Given the description of an element on the screen output the (x, y) to click on. 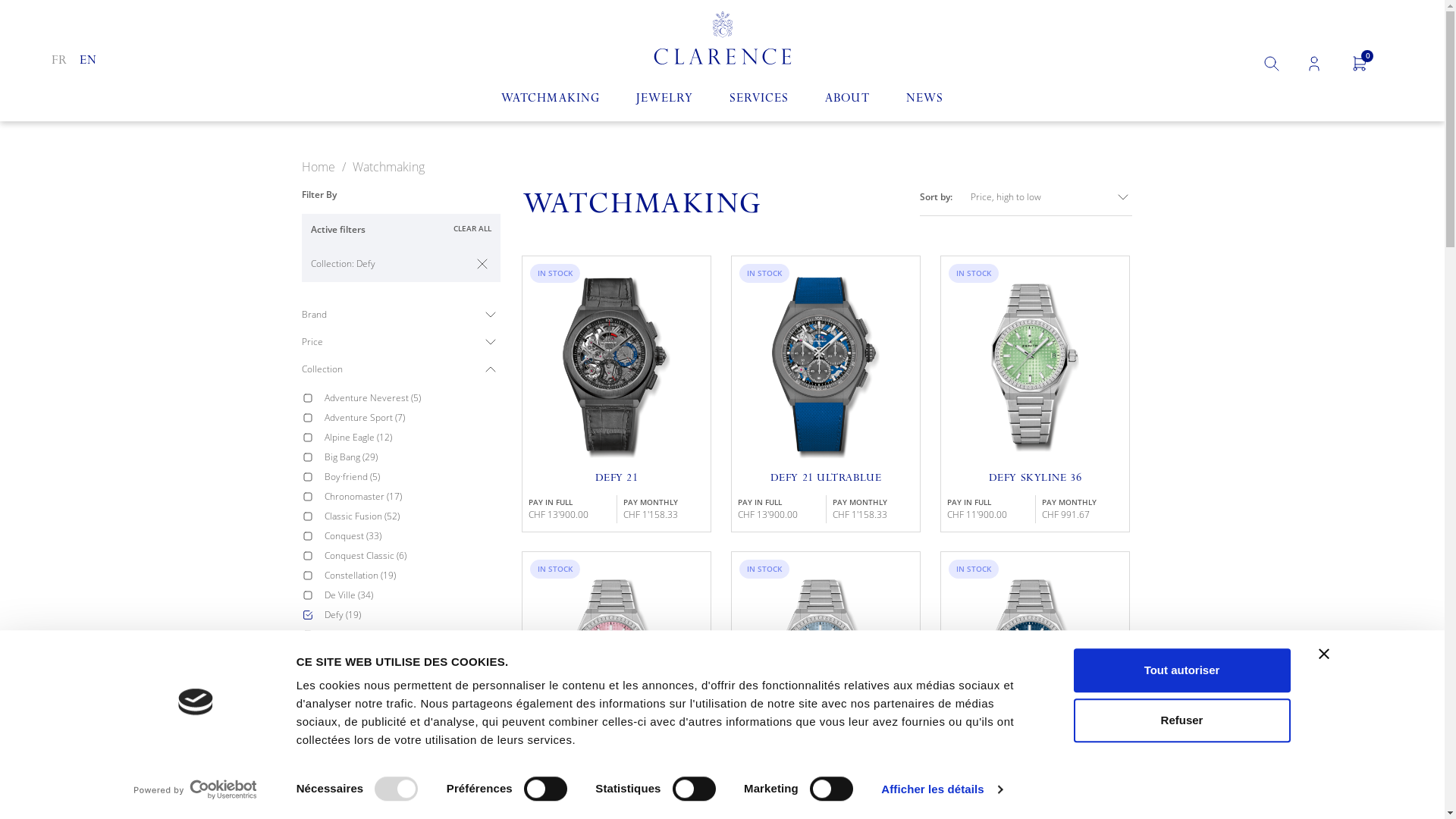
DEFY 21 Element type: text (616, 479)
FR Element type: text (59, 61)
Defy (19) Element type: text (412, 614)
Heritage Avigation (3) Element type: text (412, 772)
DEFY 21 ULTRABLUE Element type: text (825, 479)
IN STOCK Element type: text (1035, 367)
DEFY SKYLINE 36 Element type: text (616, 774)
Heritage (18) Element type: text (412, 752)
Price, high to low Element type: text (1051, 197)
Adventure Sport (7) Element type: text (412, 417)
EN Element type: text (88, 61)
QUICK VIEW Element type: text (615, 802)
DEFY SKYLINE 36 Element type: text (825, 774)
Evidenza (2) Element type: text (412, 673)
Constellation (19) Element type: text (412, 575)
Adventure Neverest (5) Element type: text (412, 397)
DEFY SKYLINE 36 Element type: text (1034, 774)
ABOUT Element type: text (847, 99)
QUICK VIEW Element type: text (825, 506)
JEWELRY Element type: text (664, 99)
Home Element type: text (319, 166)
IN STOCK Element type: text (825, 663)
QUICK VIEW Element type: text (615, 506)
DEFY SKYLINE 36 Element type: text (1034, 479)
QUICK VIEW Element type: text (1034, 802)
Freedom 60 (4) Element type: text (412, 713)
Conquest Classic (6) Element type: text (412, 555)
Refuser Element type: text (1181, 720)
IN STOCK Element type: text (616, 367)
QUICK VIEW Element type: text (1034, 506)
Heritage Classic (9) Element type: text (412, 792)
IN STOCK Element type: text (825, 367)
Conquest (33) Element type: text (412, 535)
De Ville (34) Element type: text (412, 595)
CLEAR ALL Element type: text (472, 229)
IN STOCK Element type: text (1035, 663)
Flagship (90) Element type: text (412, 693)
Alpine Eagle (12) Element type: text (412, 437)
Elite (1) Element type: text (412, 654)
Happy Sport (34) Element type: text (412, 733)
Classic Fusion (52) Element type: text (412, 516)
Chronomaster (17) Element type: text (412, 496)
QUICK VIEW Element type: text (825, 802)
Log in to your customer account Element type: hover (1314, 63)
Tout autoriser Element type: text (1181, 670)
IN STOCK Element type: text (616, 663)
WATCHMAKING Element type: text (550, 99)
Big Bang (29) Element type: text (412, 457)
Dolcevita (5) Element type: text (412, 634)
SERVICES Element type: text (758, 99)
NEWS Element type: text (924, 99)
